Given the description of an element on the screen output the (x, y) to click on. 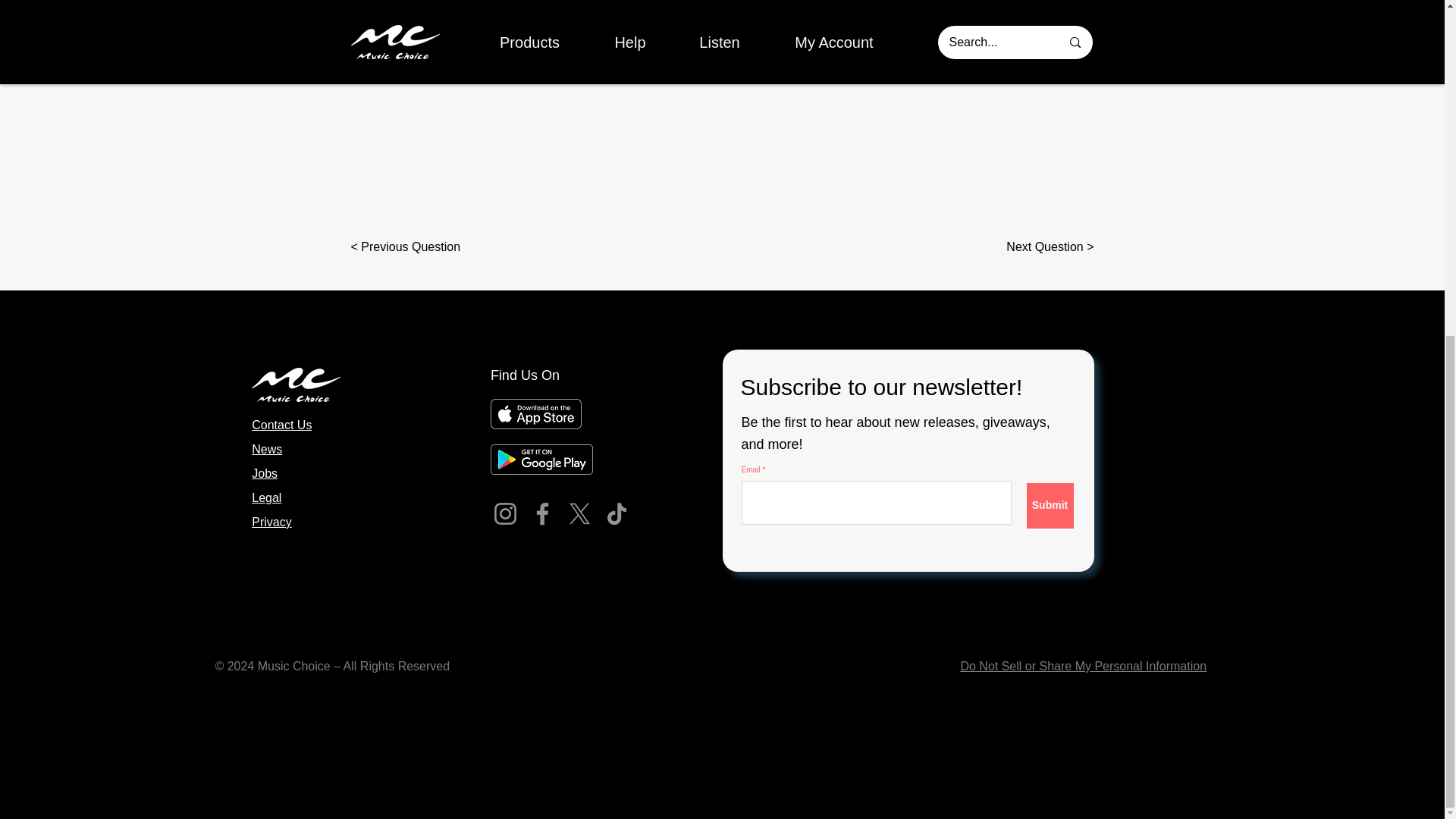
Do Not Sell or Share My Personal Information (1083, 666)
Submit (1050, 505)
Jobs (264, 472)
Contact Us (281, 424)
News (266, 449)
Privacy (271, 521)
Legal (266, 497)
